Given the description of an element on the screen output the (x, y) to click on. 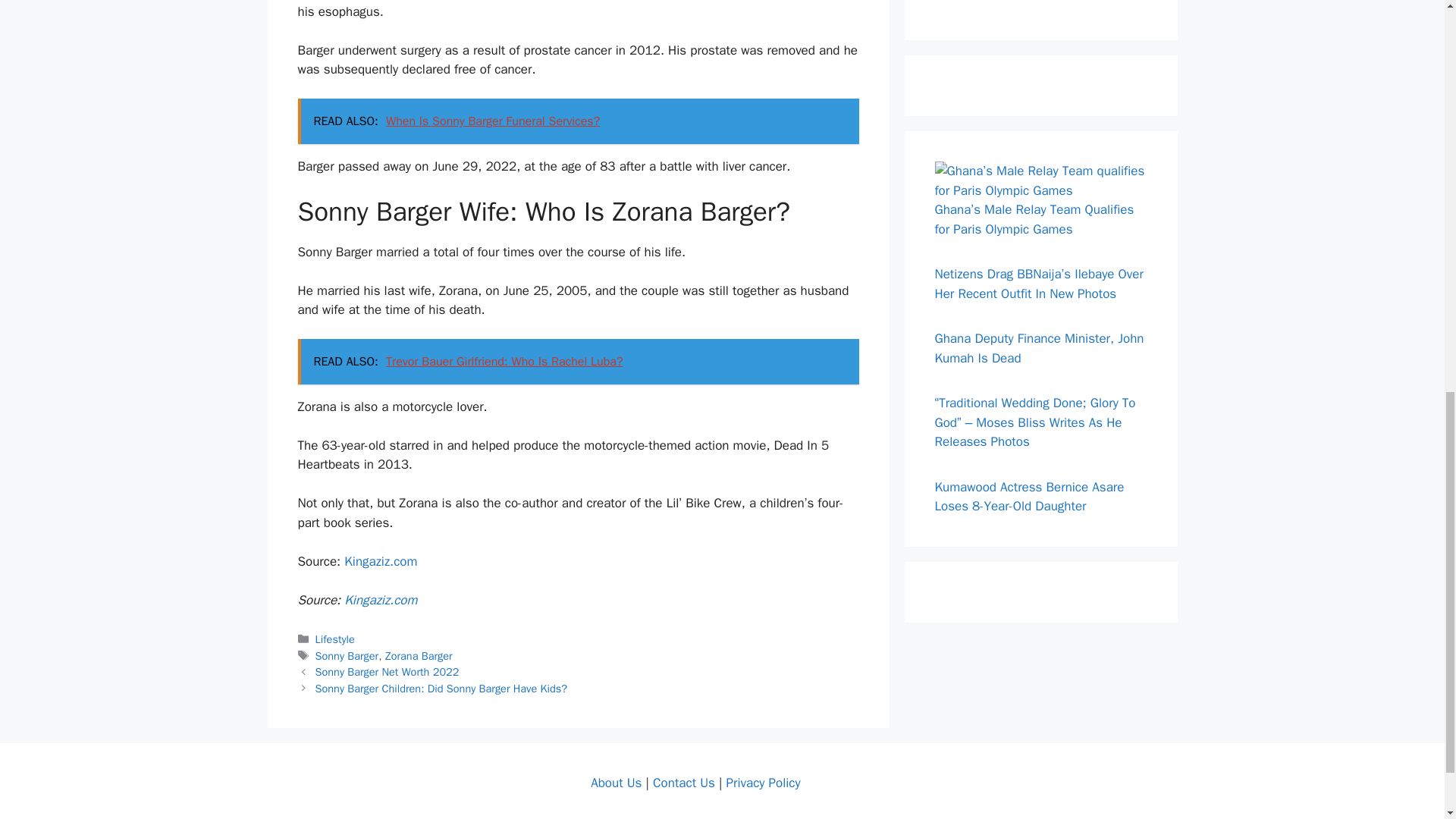
READ ALSO:  When Is Sonny Barger Funeral Services? (578, 121)
READ ALSO:  Trevor Bauer Girlfriend: Who Is Rachel Luba? (578, 361)
About Us (616, 782)
Kumawood Actress Bernice Asare Loses 8-Year-Old Daughter (1029, 497)
Kingaziz.com (379, 561)
Ghana Deputy Finance Minister, John Kumah Is Dead (1038, 348)
Sonny Barger Net Worth 2022 (387, 671)
Kingaziz.com (379, 600)
Zorana Barger (418, 655)
Contact Us (683, 782)
Sonny Barger Children: Did Sonny Barger Have Kids? (441, 688)
Lifestyle (335, 639)
Privacy Policy (762, 782)
Sonny Barger (346, 655)
